Given the description of an element on the screen output the (x, y) to click on. 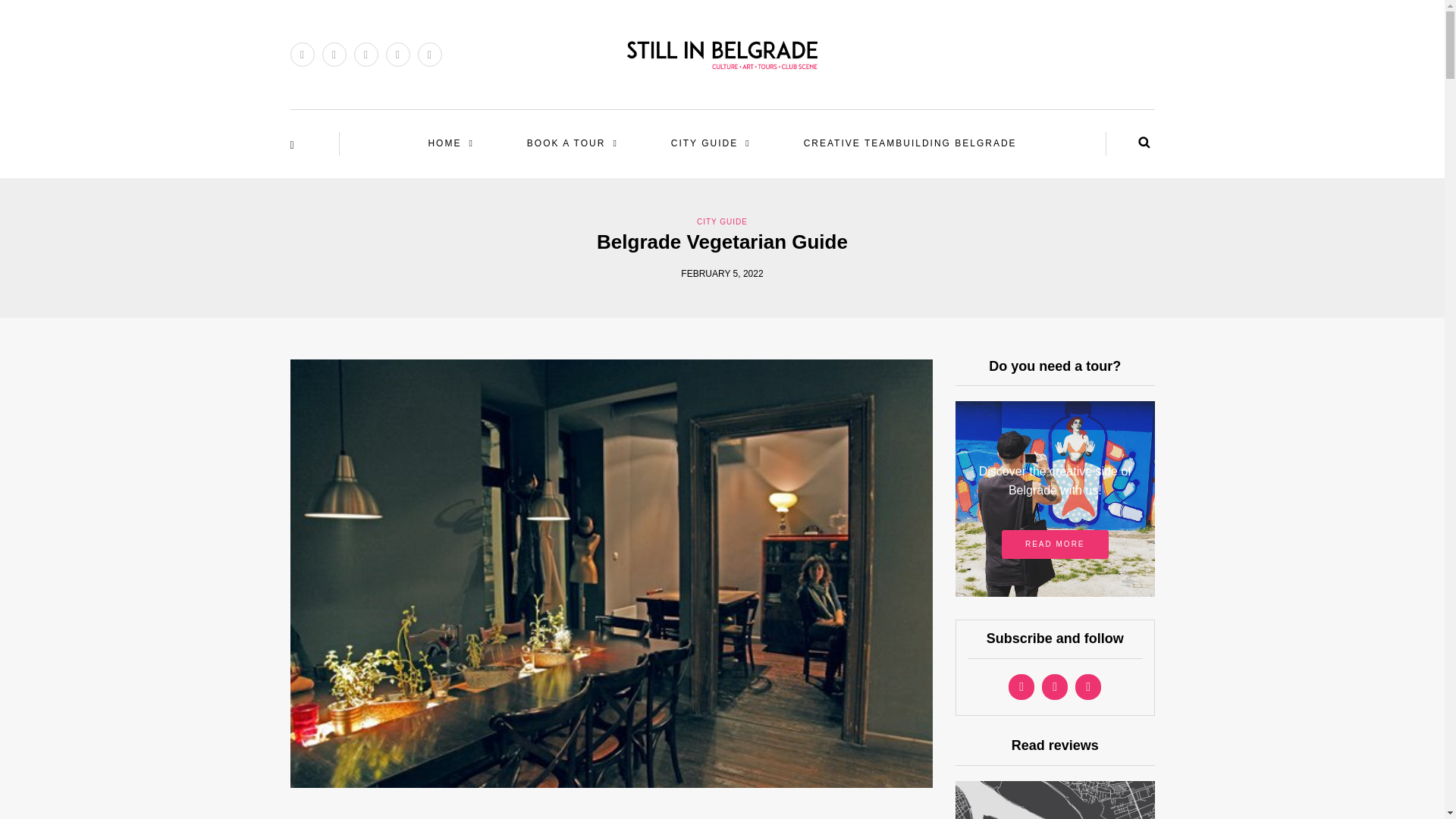
CITY GUIDE (710, 143)
HOME (450, 143)
BOOK A TOUR (571, 143)
